Given the description of an element on the screen output the (x, y) to click on. 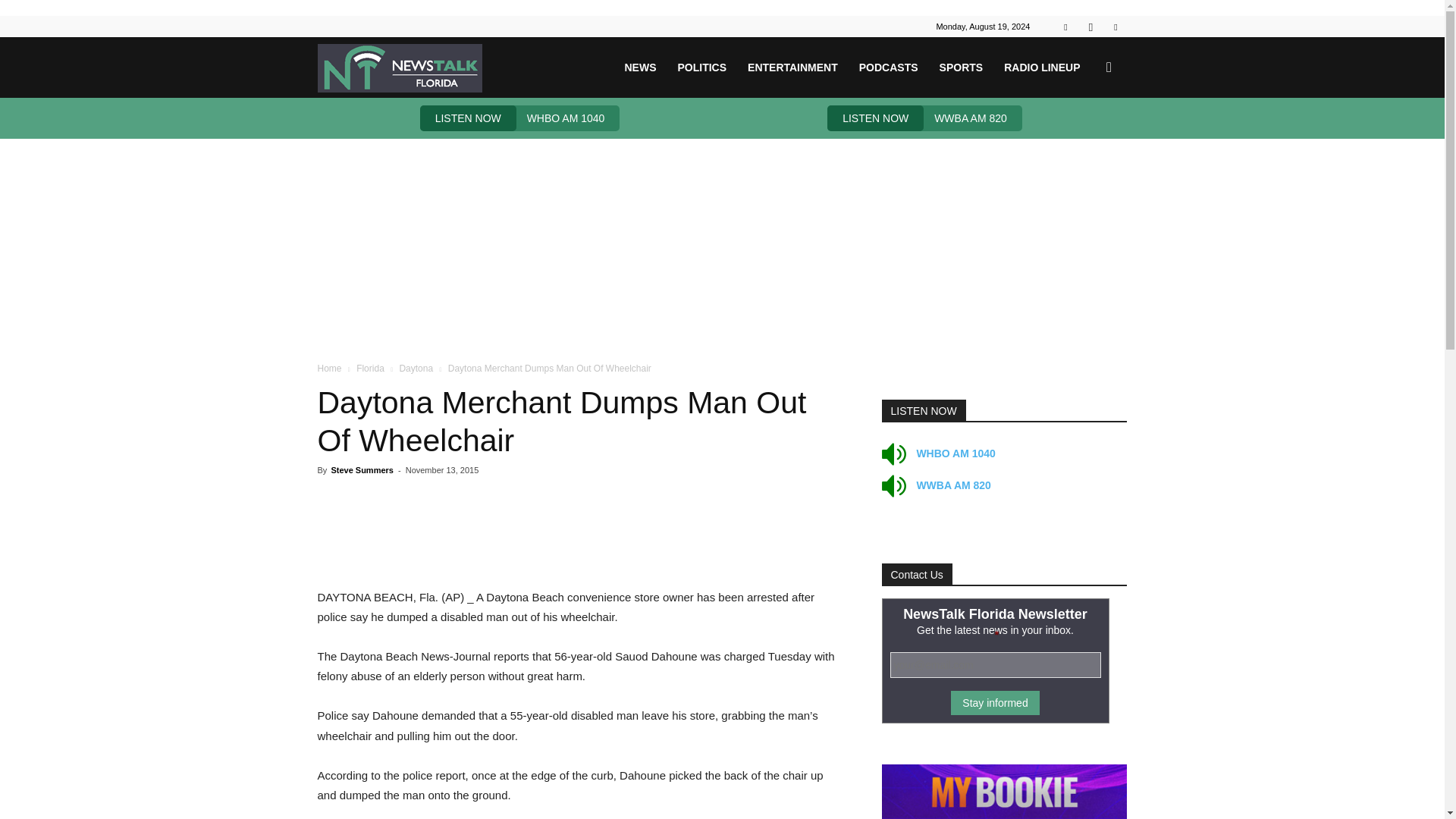
Instagram (1090, 25)
Search (1085, 139)
Twitter (1114, 25)
View all posts in Florida (370, 368)
View all posts in Daytona (415, 368)
Facebook (1065, 25)
Stay informed (994, 702)
